Given the description of an element on the screen output the (x, y) to click on. 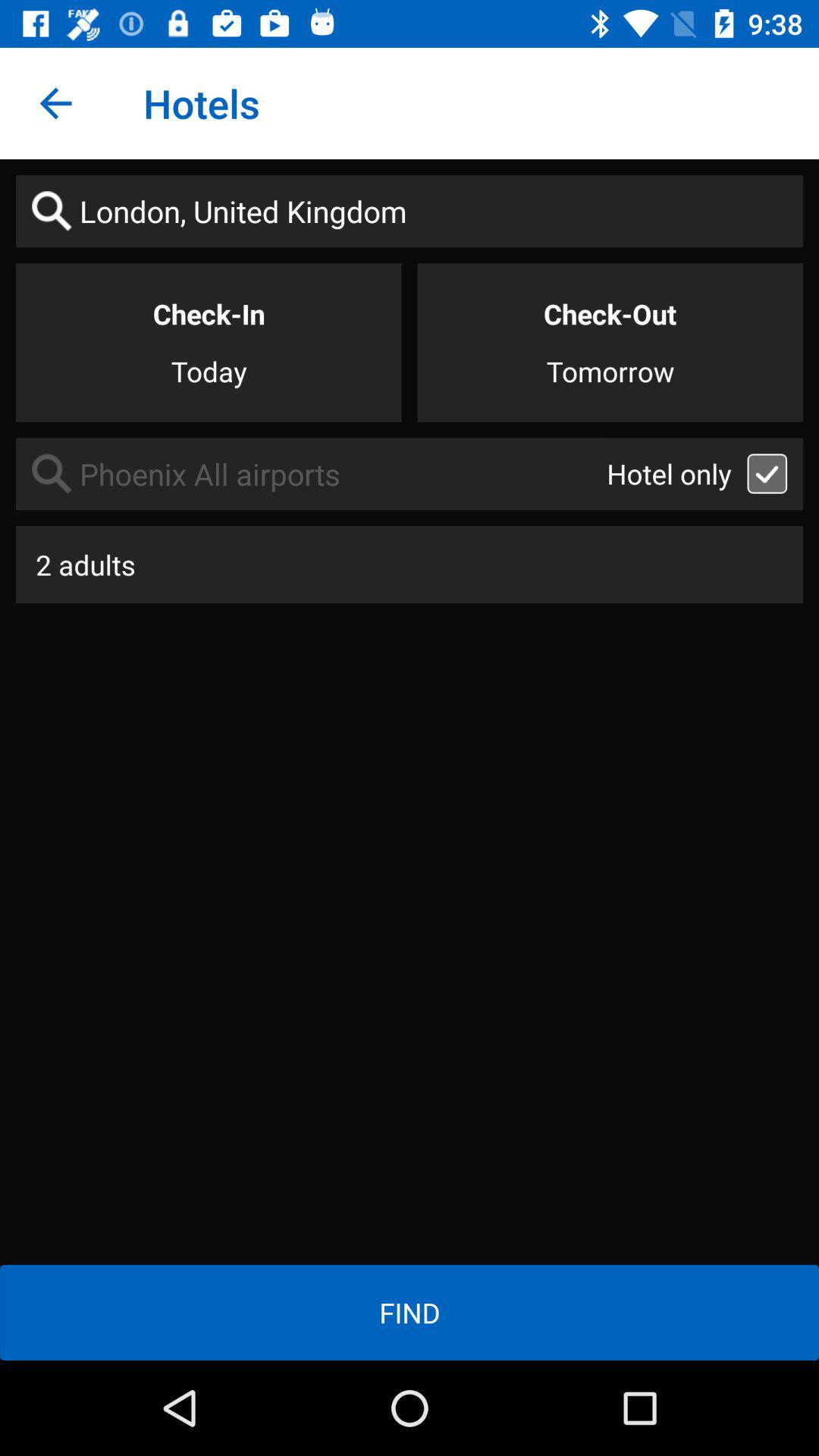
scroll to 2 adults (409, 564)
